Given the description of an element on the screen output the (x, y) to click on. 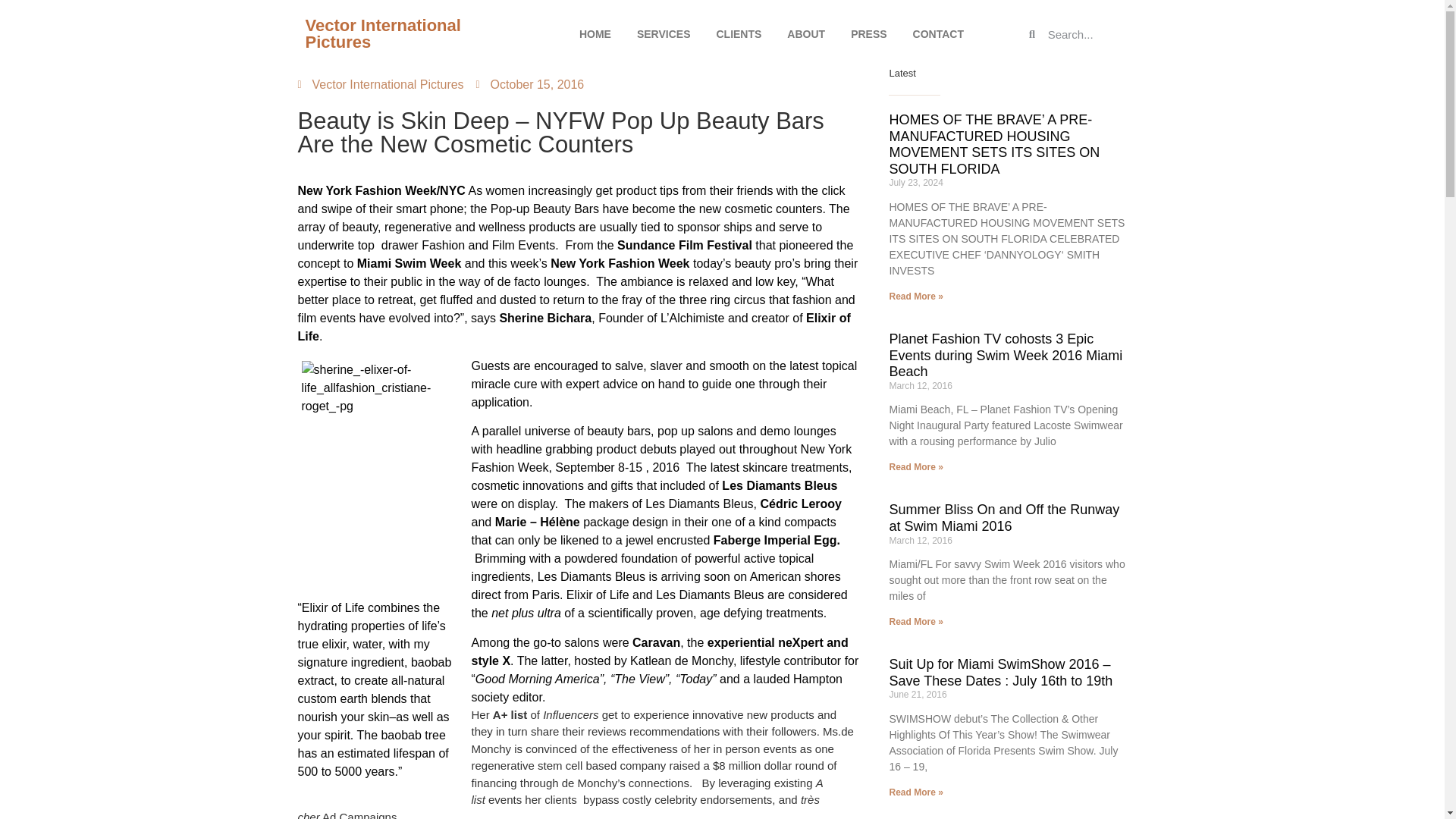
PRESS (868, 33)
CONTACT (937, 33)
HOME (595, 33)
CLIENTS (738, 33)
Vector International Pictures (382, 33)
SERVICES (663, 33)
ABOUT (806, 33)
Summer Bliss On and Off the Runway at Swim Miami 2016 (1003, 517)
Vector International Pictures (380, 85)
